Given the description of an element on the screen output the (x, y) to click on. 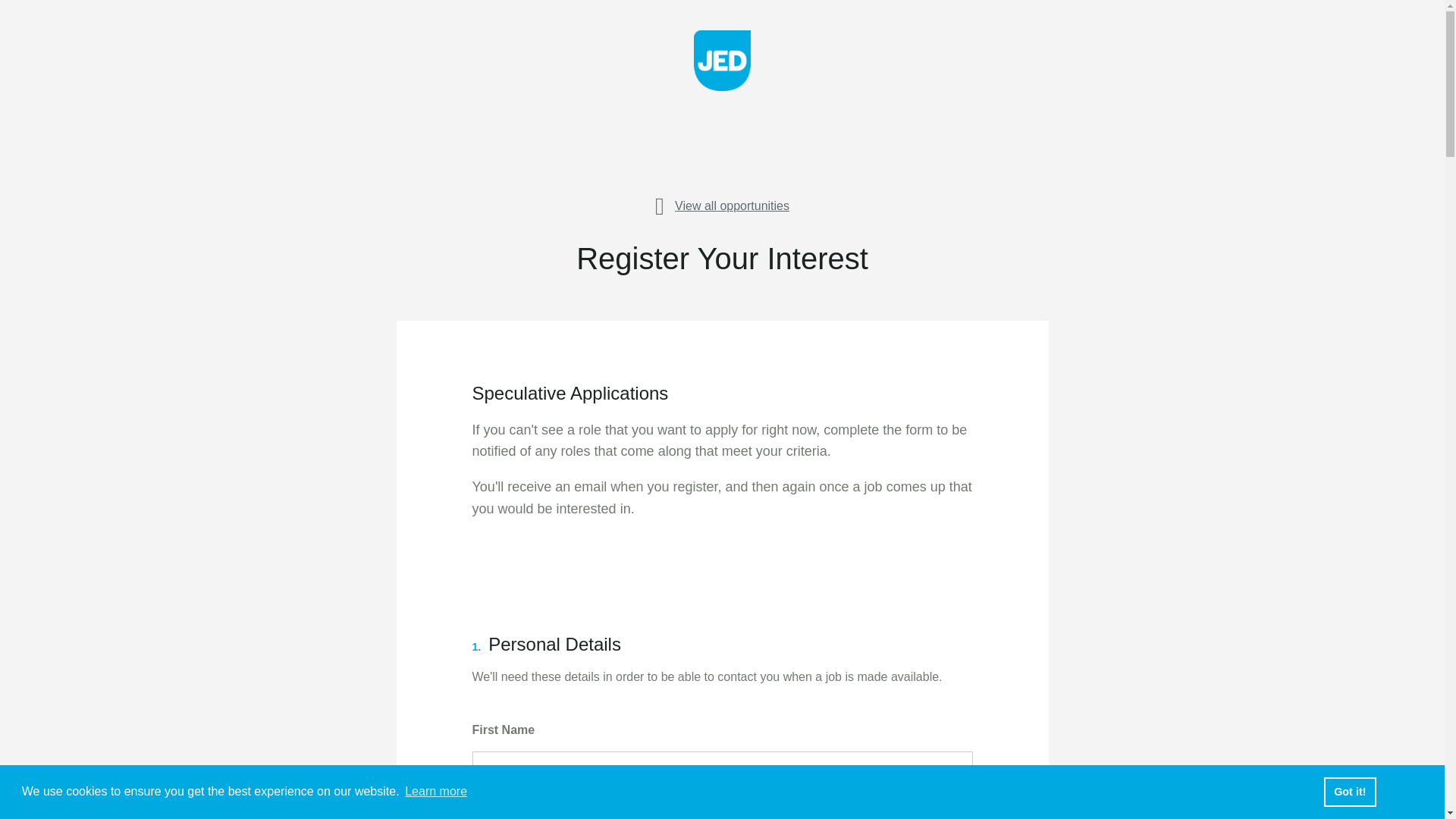
Got it! (1349, 791)
Learn more (435, 791)
View all opportunities (722, 202)
